Given the description of an element on the screen output the (x, y) to click on. 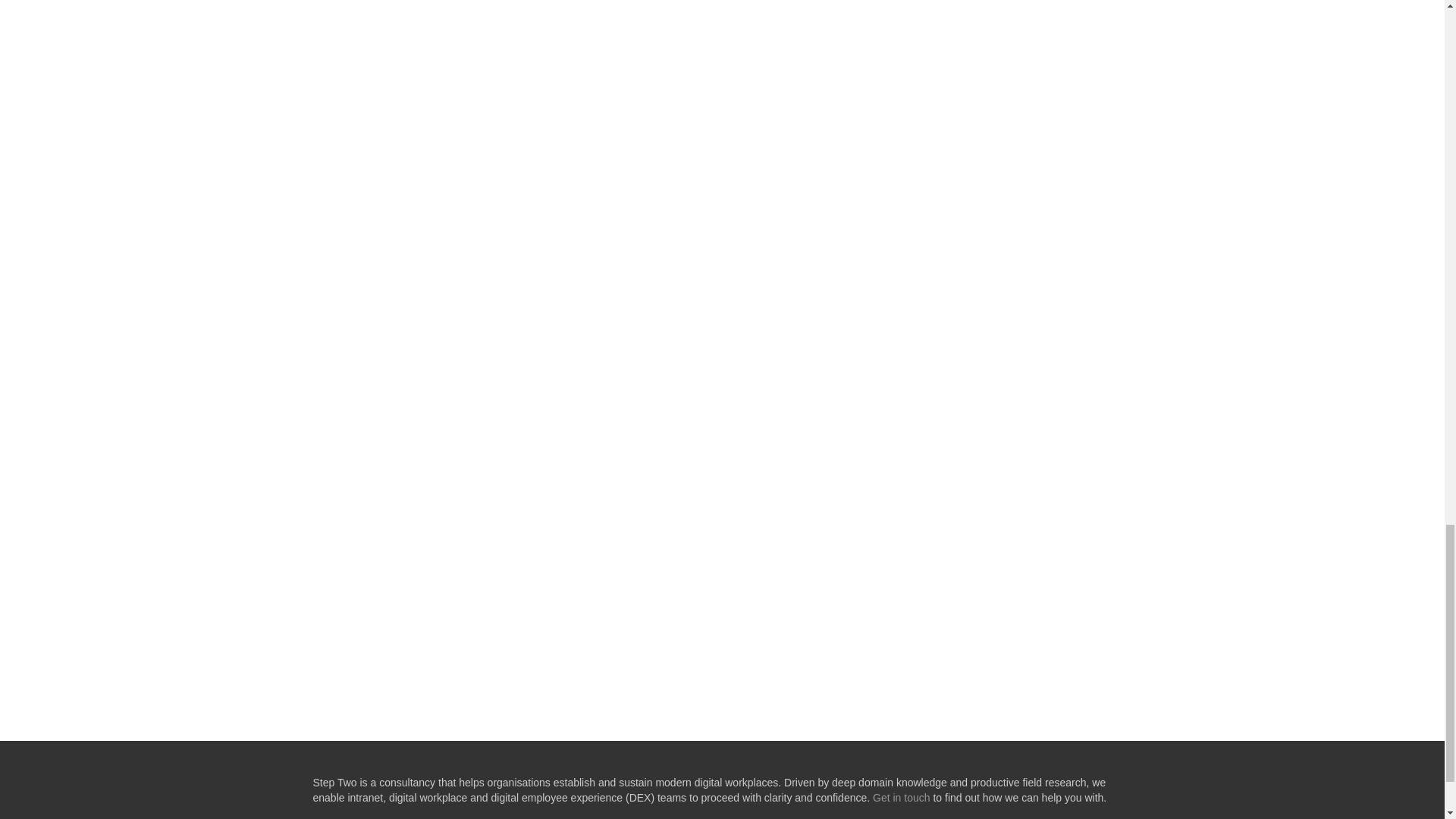
Get in touch (901, 797)
